Given the description of an element on the screen output the (x, y) to click on. 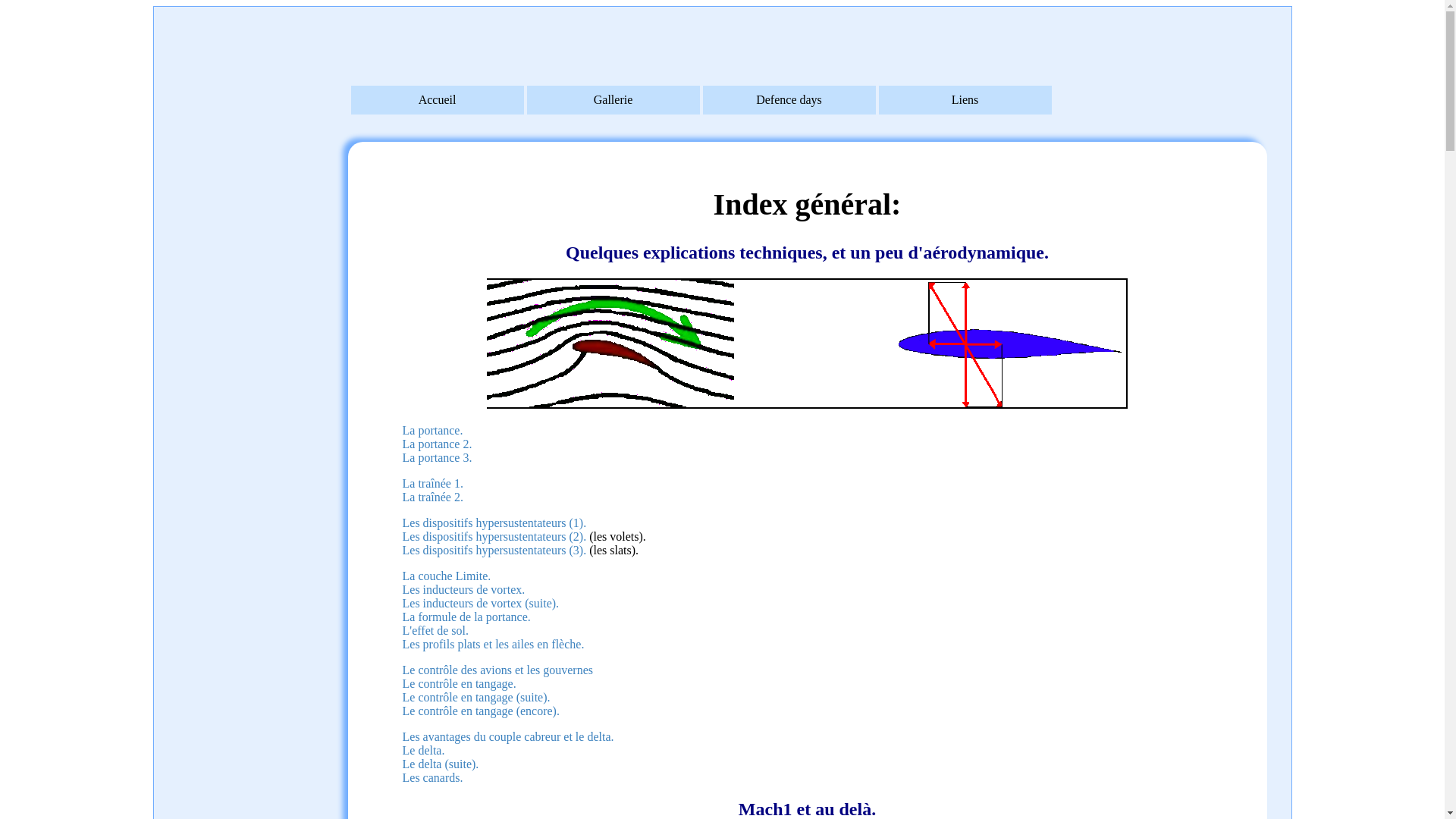
Les dispositifs hypersustentateurs (1). Element type: text (493, 521)
Les inducteurs de vortex (suite). Element type: text (479, 602)
Defence days Element type: text (788, 99)
Le delta. Element type: text (422, 749)
La couche Limite. Element type: text (445, 574)
L'effet de sol. Element type: text (434, 629)
Les dispositifs hypersustentateurs (3). Element type: text (493, 548)
La formule de la portance. Element type: text (465, 615)
Les canards. Element type: text (431, 776)
La portance 3. Element type: text (436, 456)
La portance 2. Element type: text (436, 442)
Les dispositifs hypersustentateurs (2). Element type: text (493, 535)
Les avantages du couple cabreur et le delta. Element type: text (507, 735)
Liens Element type: text (964, 99)
Gallerie Element type: text (612, 99)
La portance. Element type: text (431, 429)
Le delta (suite). Element type: text (439, 762)
Les inducteurs de vortex. Element type: text (462, 588)
Accueil Element type: text (436, 99)
